Given the description of an element on the screen output the (x, y) to click on. 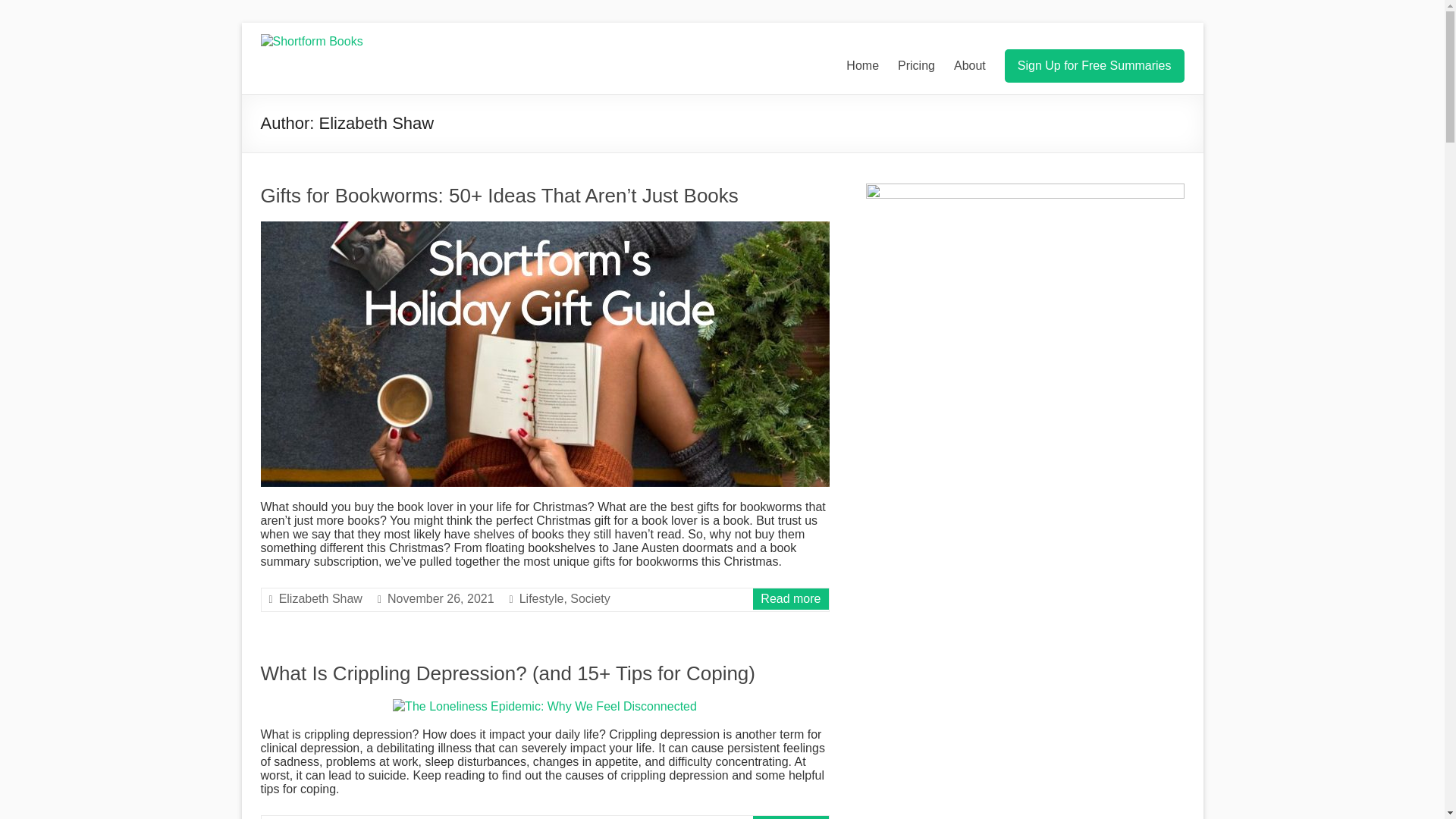
11:13 am (441, 598)
Home (862, 65)
Elizabeth Shaw (320, 598)
Society (590, 598)
Lifestyle (541, 598)
About (969, 65)
Pricing (916, 65)
Sign Up for Free Summaries (1094, 65)
November 26, 2021 (441, 598)
Read more (790, 598)
